Given the description of an element on the screen output the (x, y) to click on. 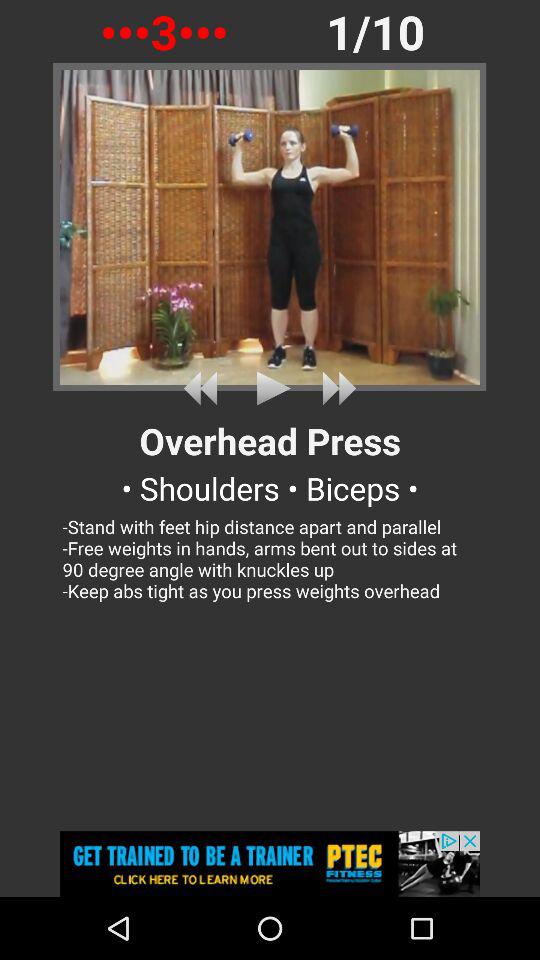
rewind the video (204, 388)
